Given the description of an element on the screen output the (x, y) to click on. 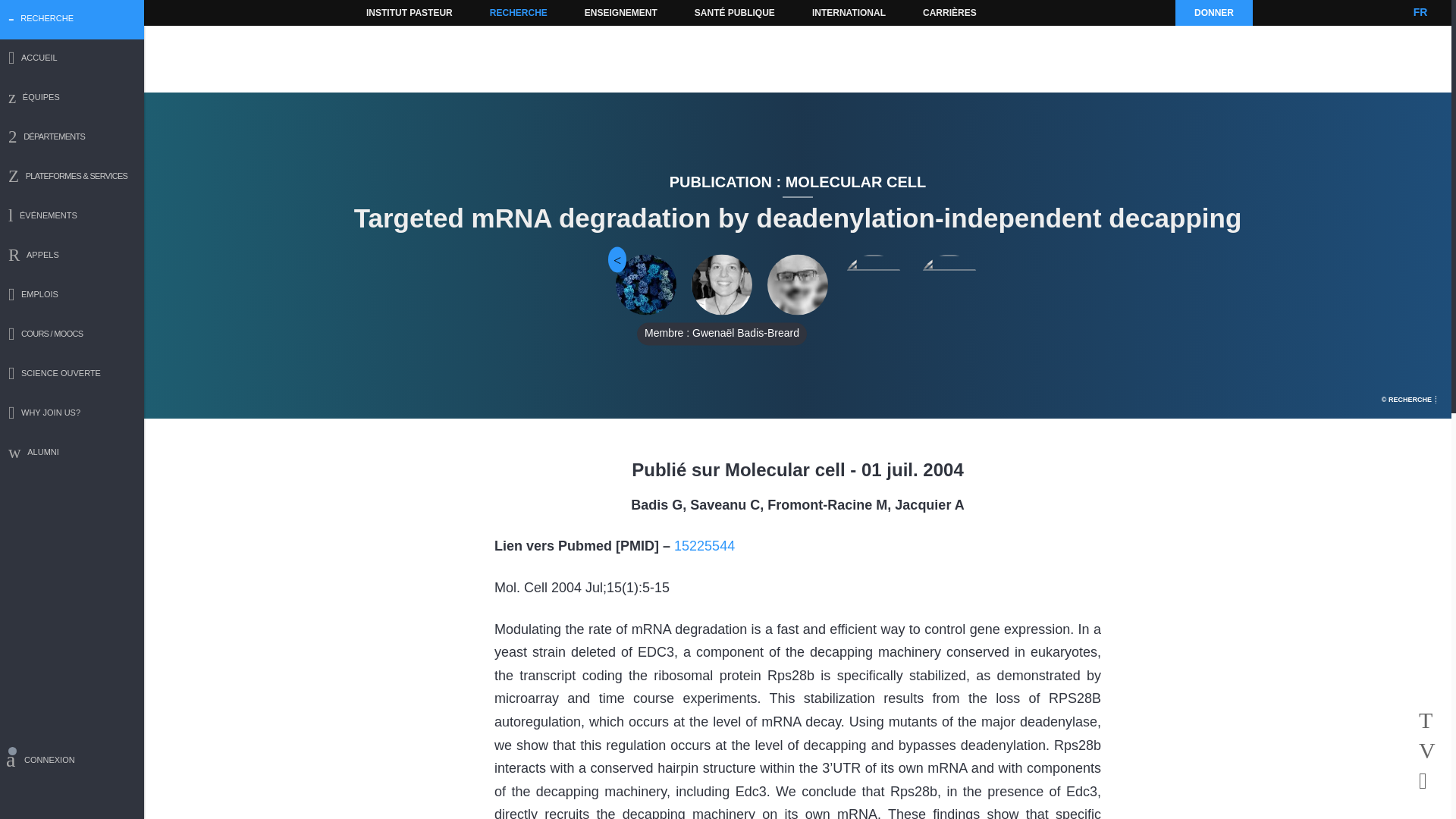
CONNEXION (72, 762)
WHY JOIN US? (72, 413)
ACCUEIL (72, 59)
FR (1419, 11)
RECHERCHE (518, 12)
ALUMNI (72, 454)
ENSEIGNEMENT (620, 12)
INTERNATIONAL (848, 12)
Aller au contenu (391, 11)
APPELS (72, 256)
